Given the description of an element on the screen output the (x, y) to click on. 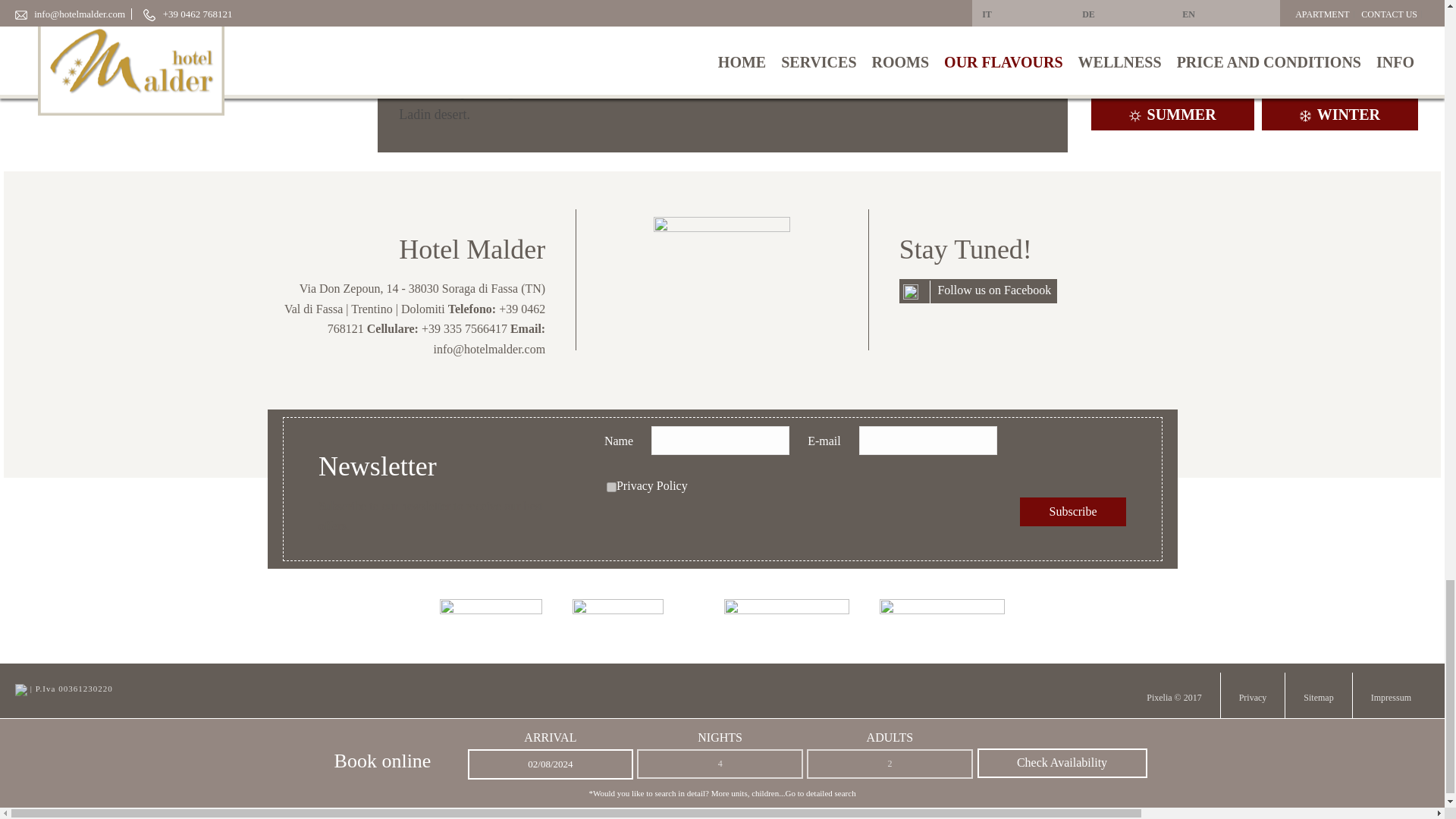
yes (611, 487)
Subscribe (1072, 511)
